Given the description of an element on the screen output the (x, y) to click on. 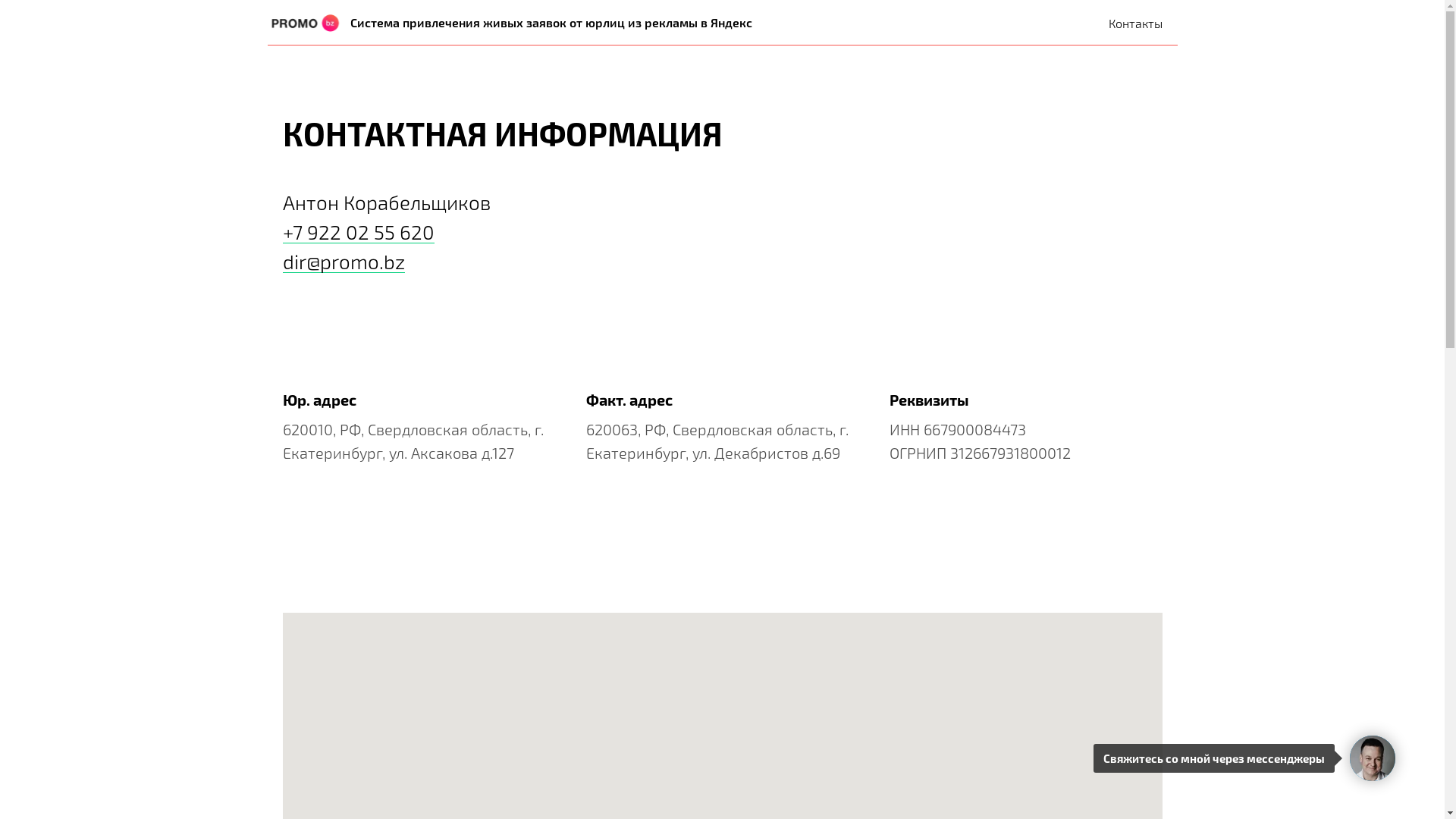
+7 922 02 55 620 Element type: text (357, 231)
dir@promo.bz Element type: text (343, 261)
